Given the description of an element on the screen output the (x, y) to click on. 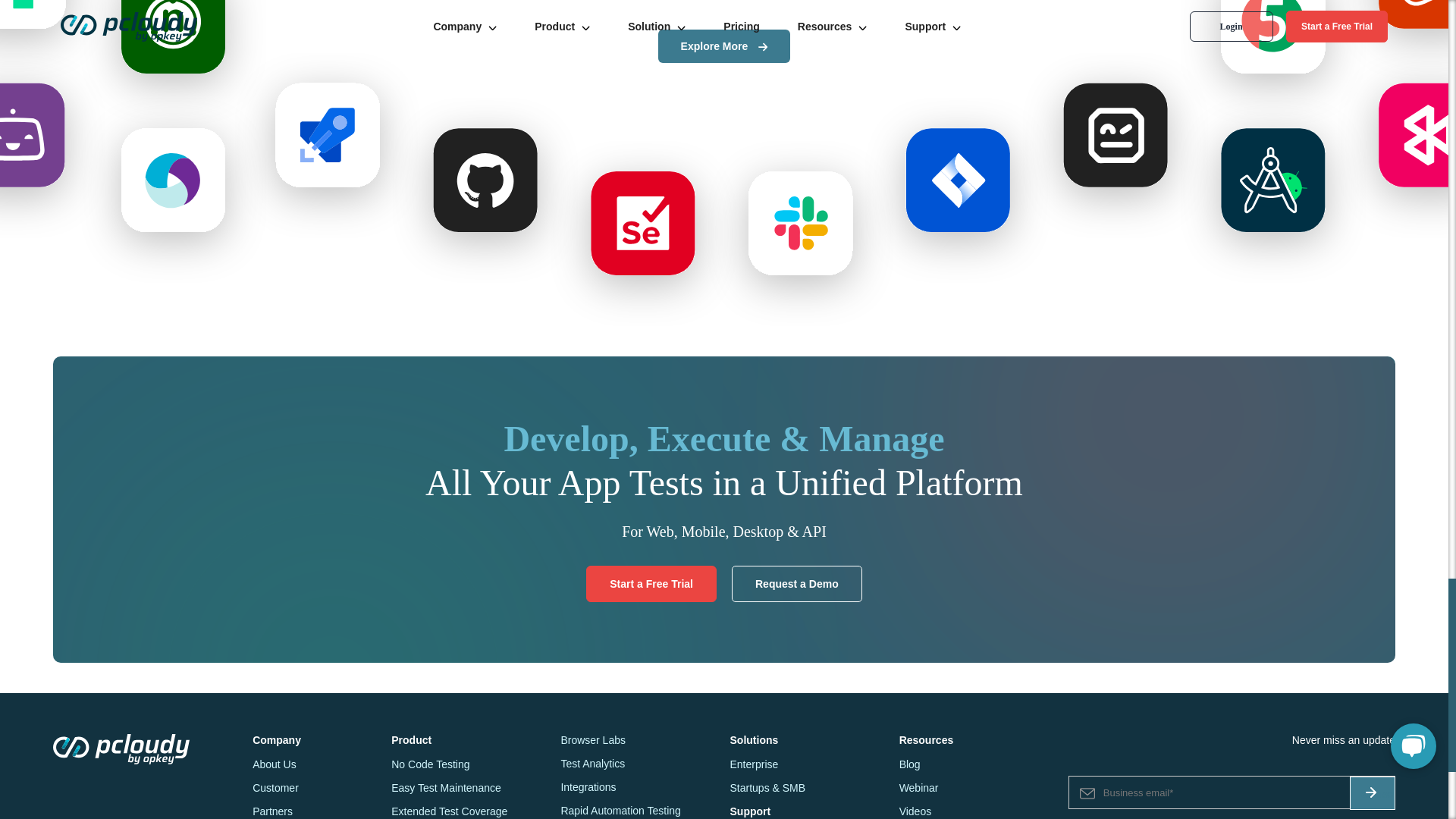
Subscribe (1371, 792)
